Given the description of an element on the screen output the (x, y) to click on. 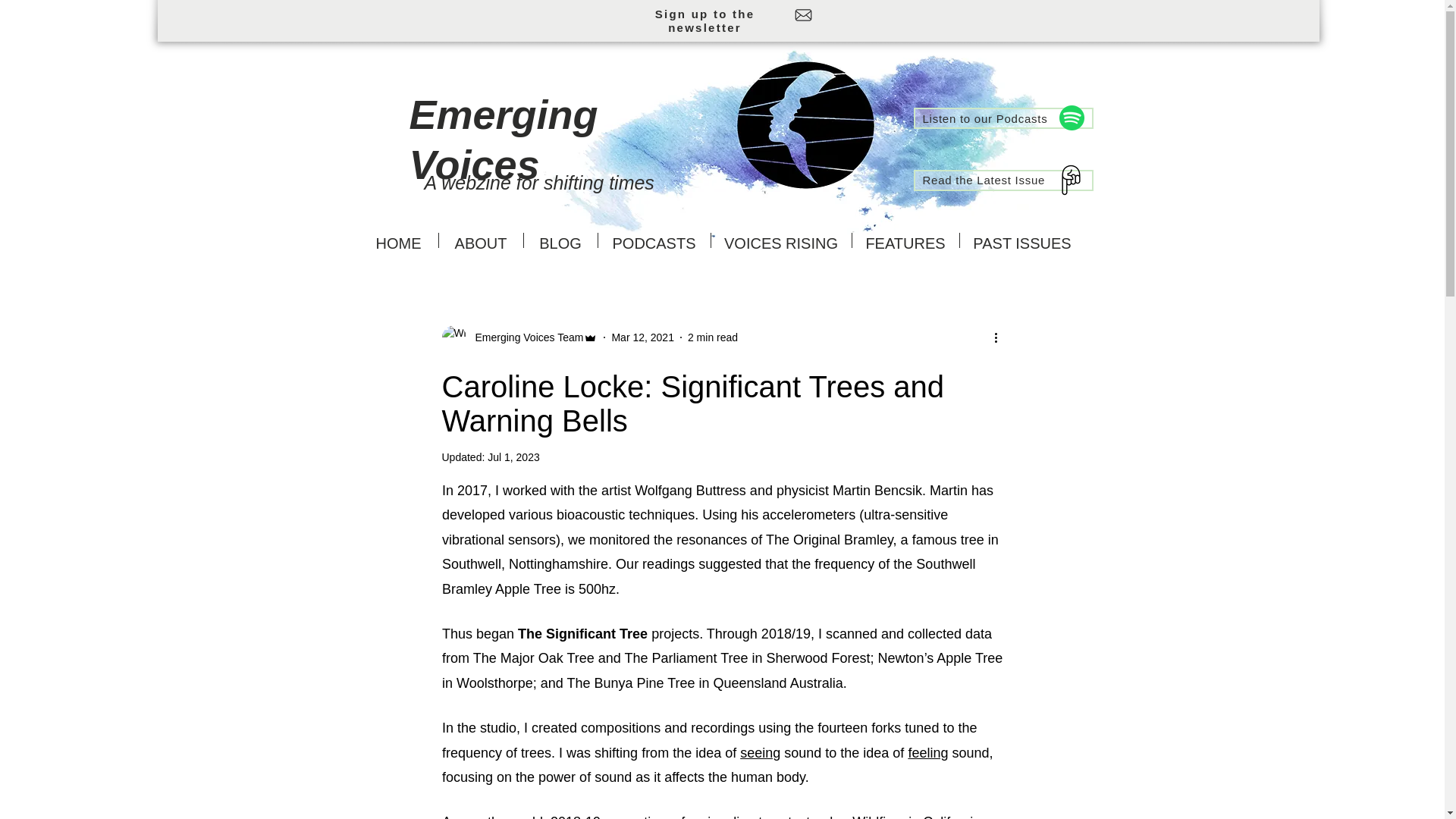
FEATURES (905, 240)
ABOUT (480, 240)
Emerging Voices Team (524, 336)
PODCASTS (653, 240)
Read the Latest Issue (1002, 179)
VOICES RISING (781, 240)
Jul 1, 2023 (513, 457)
Mar 12, 2021 (642, 336)
2 min read (712, 336)
HOME (398, 240)
Listen to our Podcasts (1002, 117)
BLOG (559, 240)
PAST ISSUES (1021, 240)
Site Search (1045, 69)
Sign up to the newsletter (704, 21)
